Given the description of an element on the screen output the (x, y) to click on. 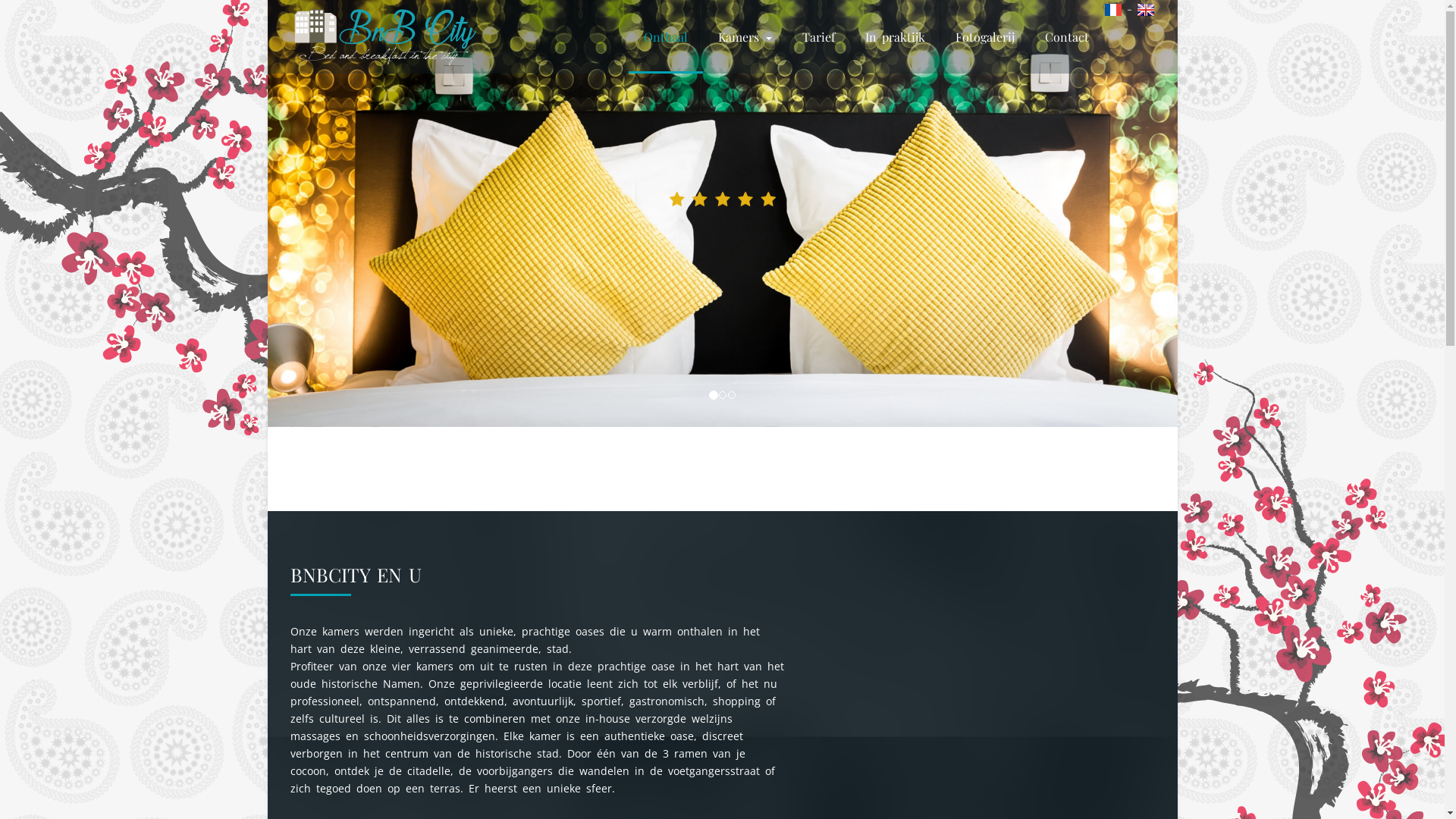
Tarief Element type: text (818, 36)
In praktijk Element type: text (894, 36)
Fotogalerij Element type: text (984, 36)
Onthaal Element type: text (664, 36)
Contact Element type: text (1066, 36)
Kamers Element type: text (744, 36)
